Given the description of an element on the screen output the (x, y) to click on. 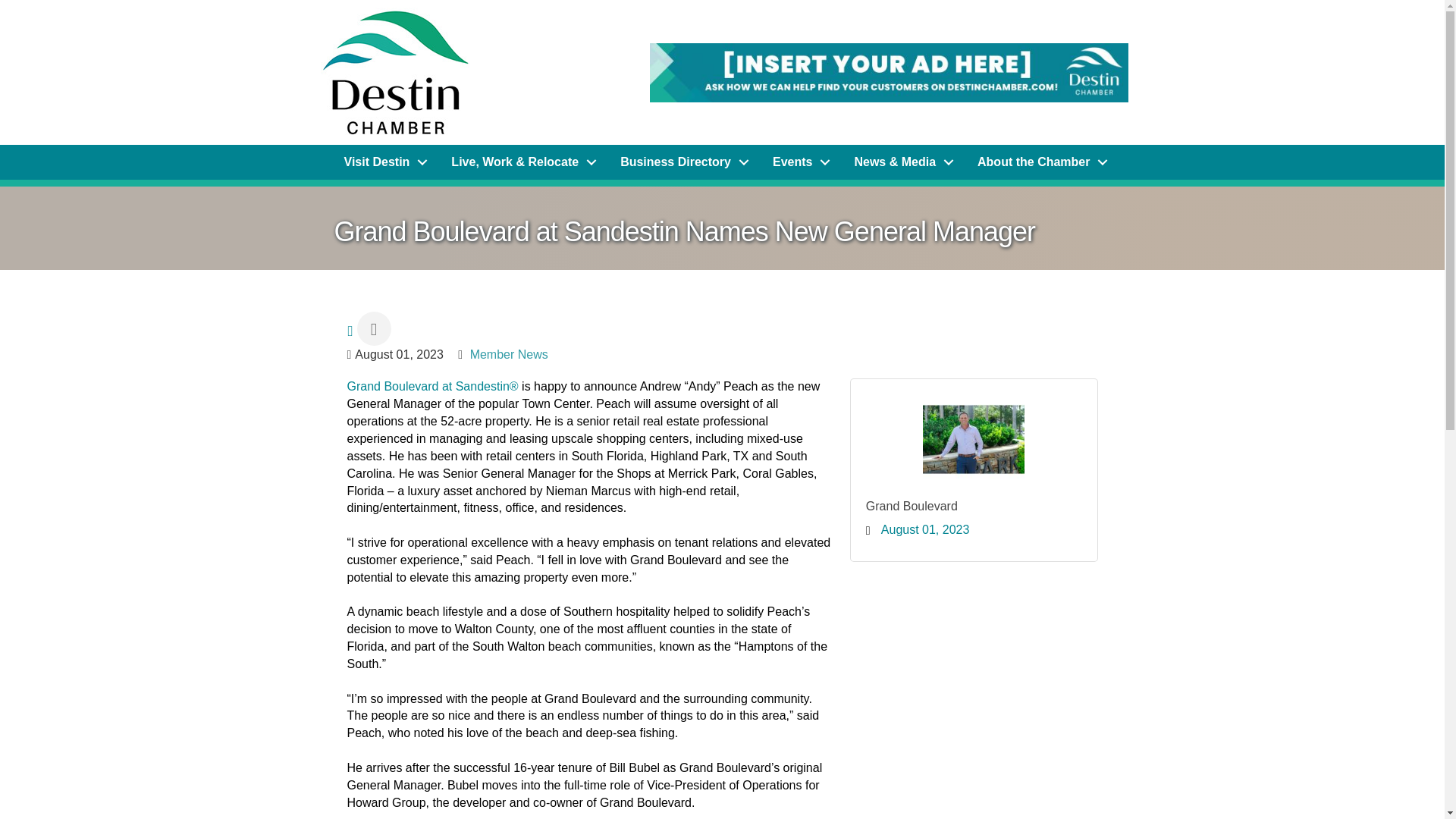
Visit Destin (382, 162)
DestinChamberLogo (394, 72)
Events (797, 162)
Business Directory (681, 162)
